Given the description of an element on the screen output the (x, y) to click on. 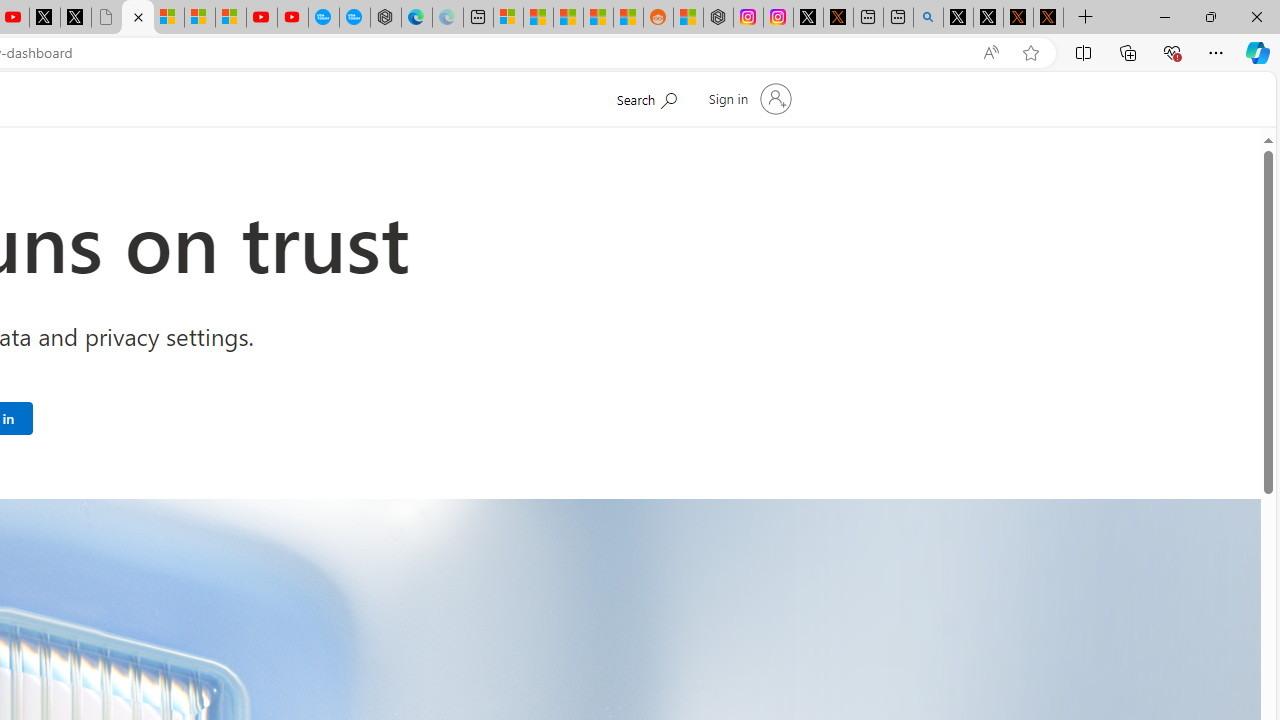
Microsoft account | Microsoft Account Privacy Settings (508, 17)
Untitled (106, 17)
YouTube Kids - An App Created for Kids to Explore Content (292, 17)
Log in to X / X (808, 17)
github - Search (928, 17)
Gloom - YouTube (261, 17)
